Given the description of an element on the screen output the (x, y) to click on. 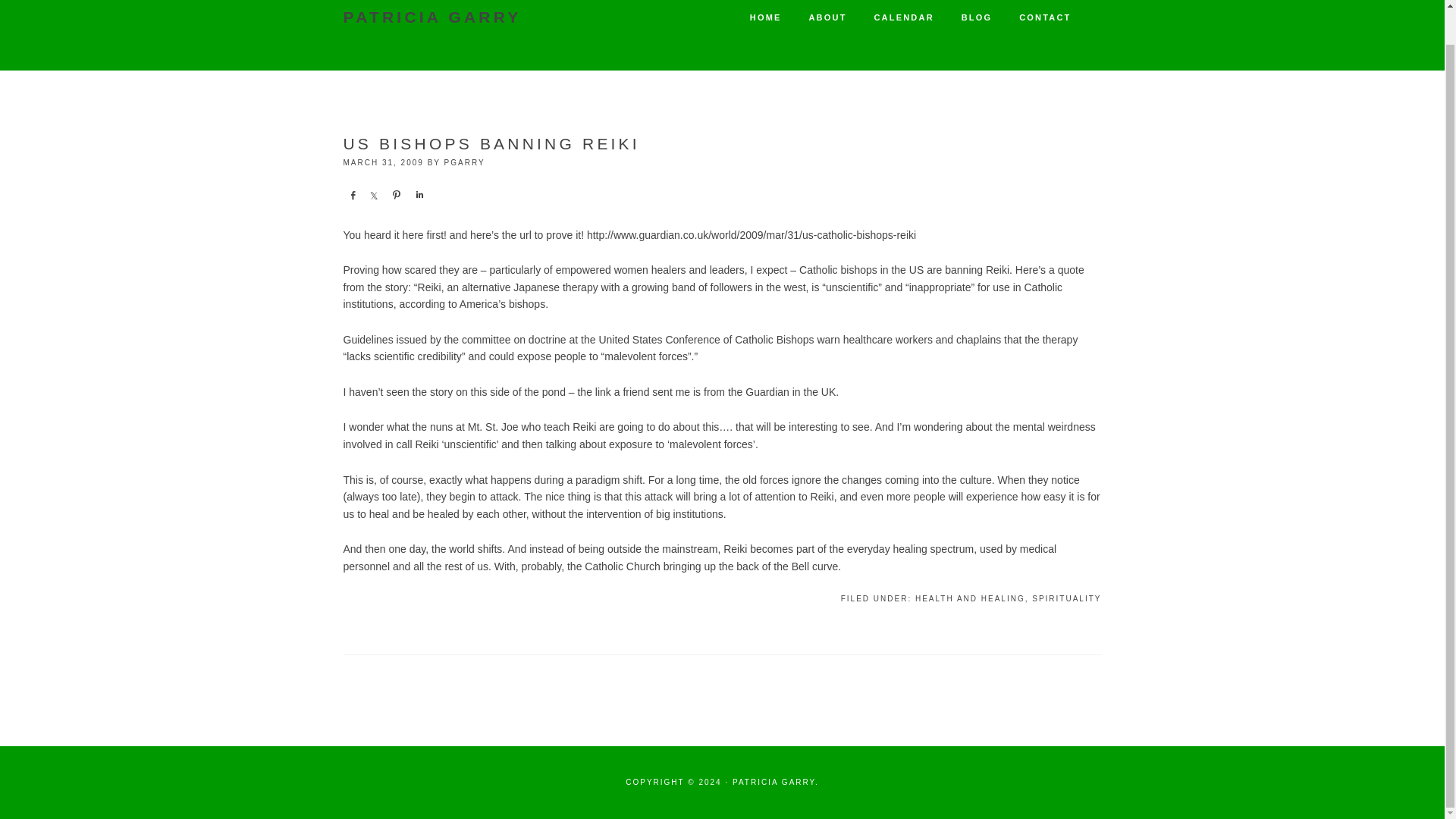
PATRICIA GARRY (431, 20)
BLOG (976, 20)
Share (351, 194)
SPIRITUALITY (1066, 598)
Pin (395, 194)
HOME (765, 20)
ABOUT (826, 20)
HEALTH AND HEALING (970, 598)
CONTACT (1044, 20)
Share (374, 194)
CALENDAR (903, 20)
Share (418, 194)
PGARRY (464, 162)
